Given the description of an element on the screen output the (x, y) to click on. 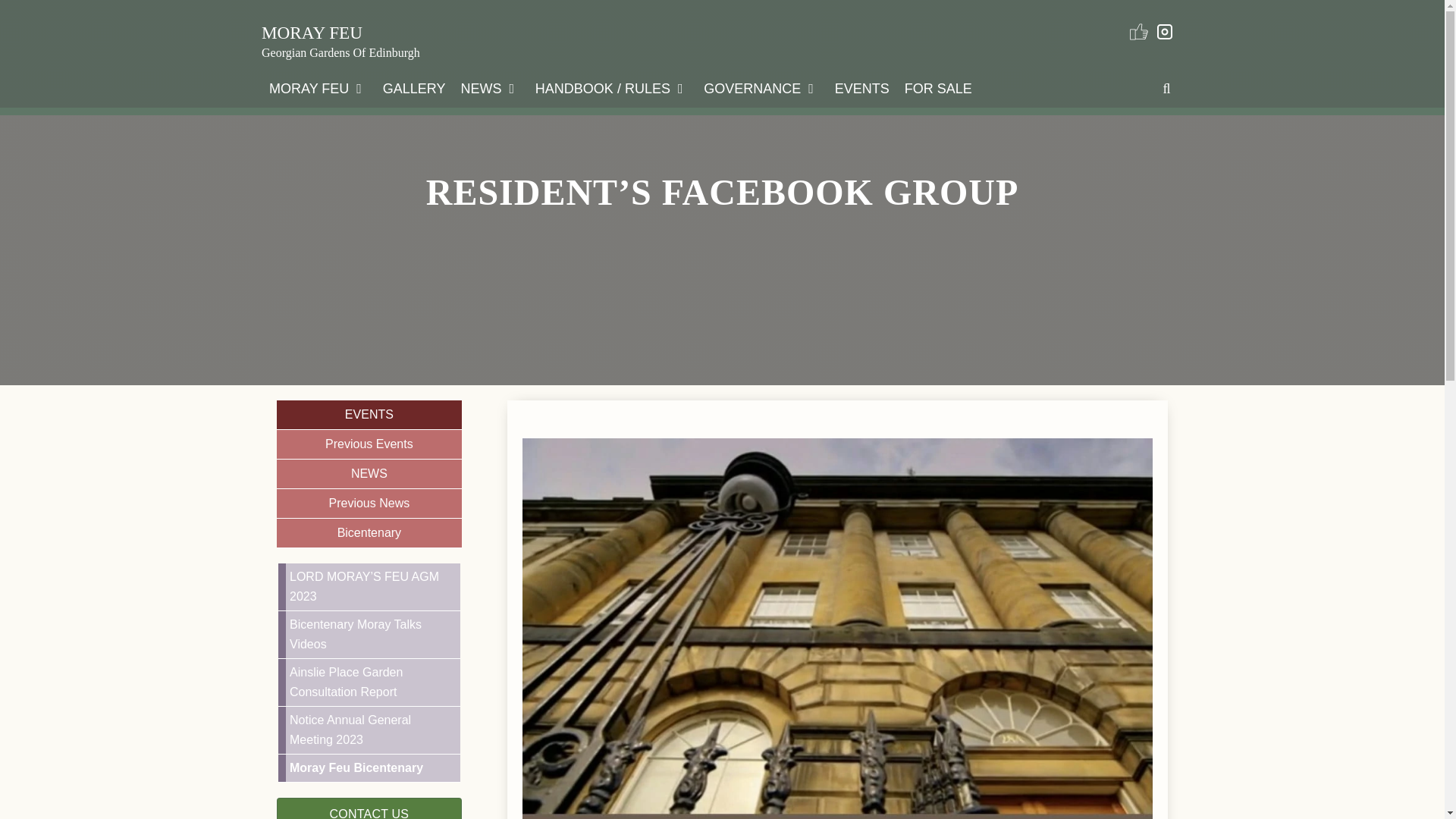
NEWS (489, 88)
GALLERY (413, 88)
FOR SALE (937, 88)
Previous Events (368, 444)
Previous News (368, 503)
EVENTS (861, 88)
MORAY FEU (312, 32)
MORAY FEU (318, 88)
Moray Feu Bicentenary (372, 768)
GOVERNANCE (761, 88)
